Given the description of an element on the screen output the (x, y) to click on. 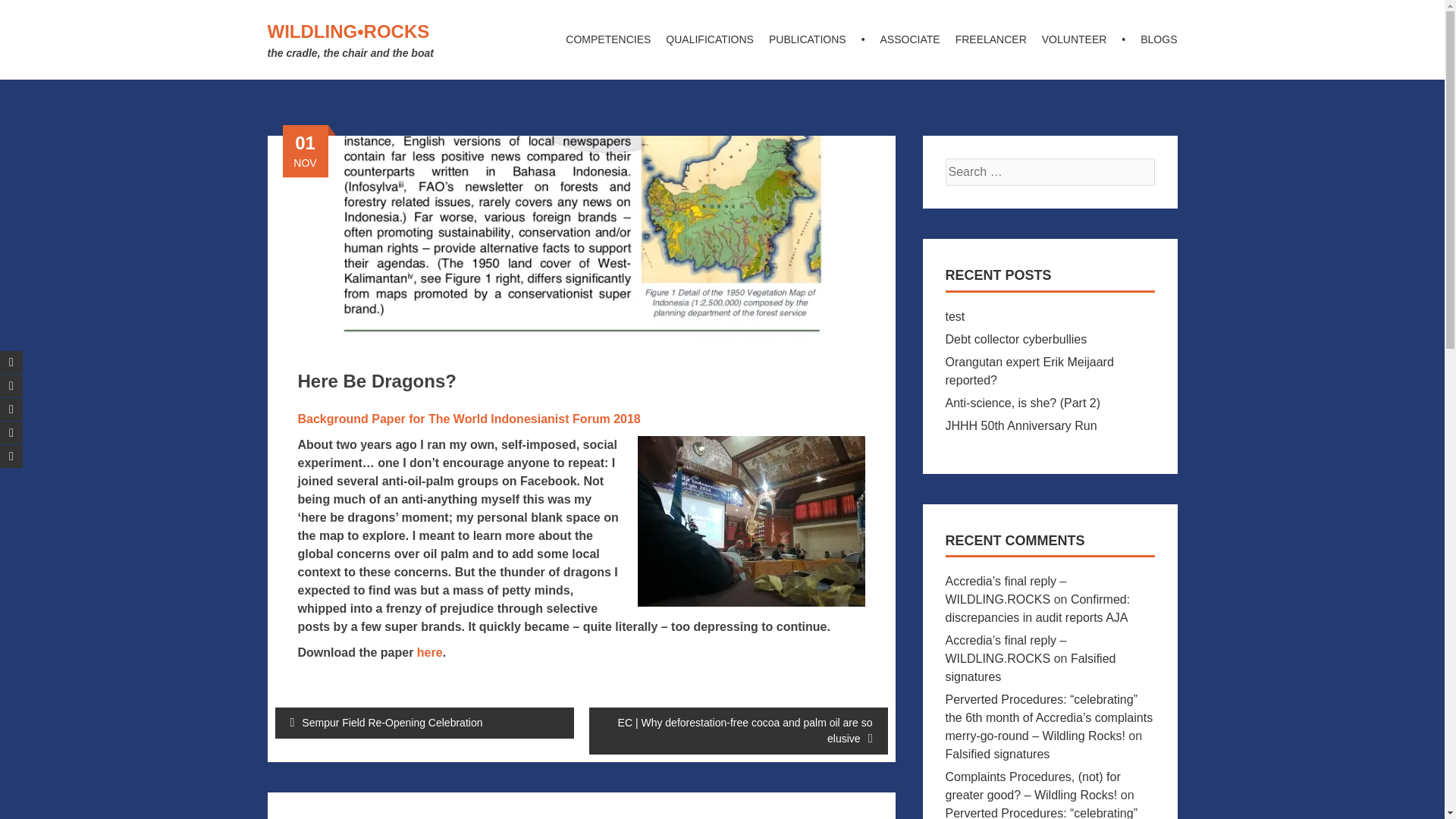
COMPETENCIES (607, 39)
Debt collector cyberbullies (1015, 338)
FREELANCER (990, 39)
QUALIFICATIONS (709, 39)
Background Paper for The World Indonesianist Forum 2018 (468, 418)
Falsified signatures (996, 753)
Search (34, 13)
test (953, 316)
Sempur Field Re-Opening Celebration (424, 722)
PUBLICATIONS (807, 39)
Orangutan expert Erik Meijaard reported? (1028, 370)
Confirmed: discrepancies in audit reports AJA (1036, 608)
ASSOCIATE (909, 39)
VOLUNTEER (1074, 39)
